Given the description of an element on the screen output the (x, y) to click on. 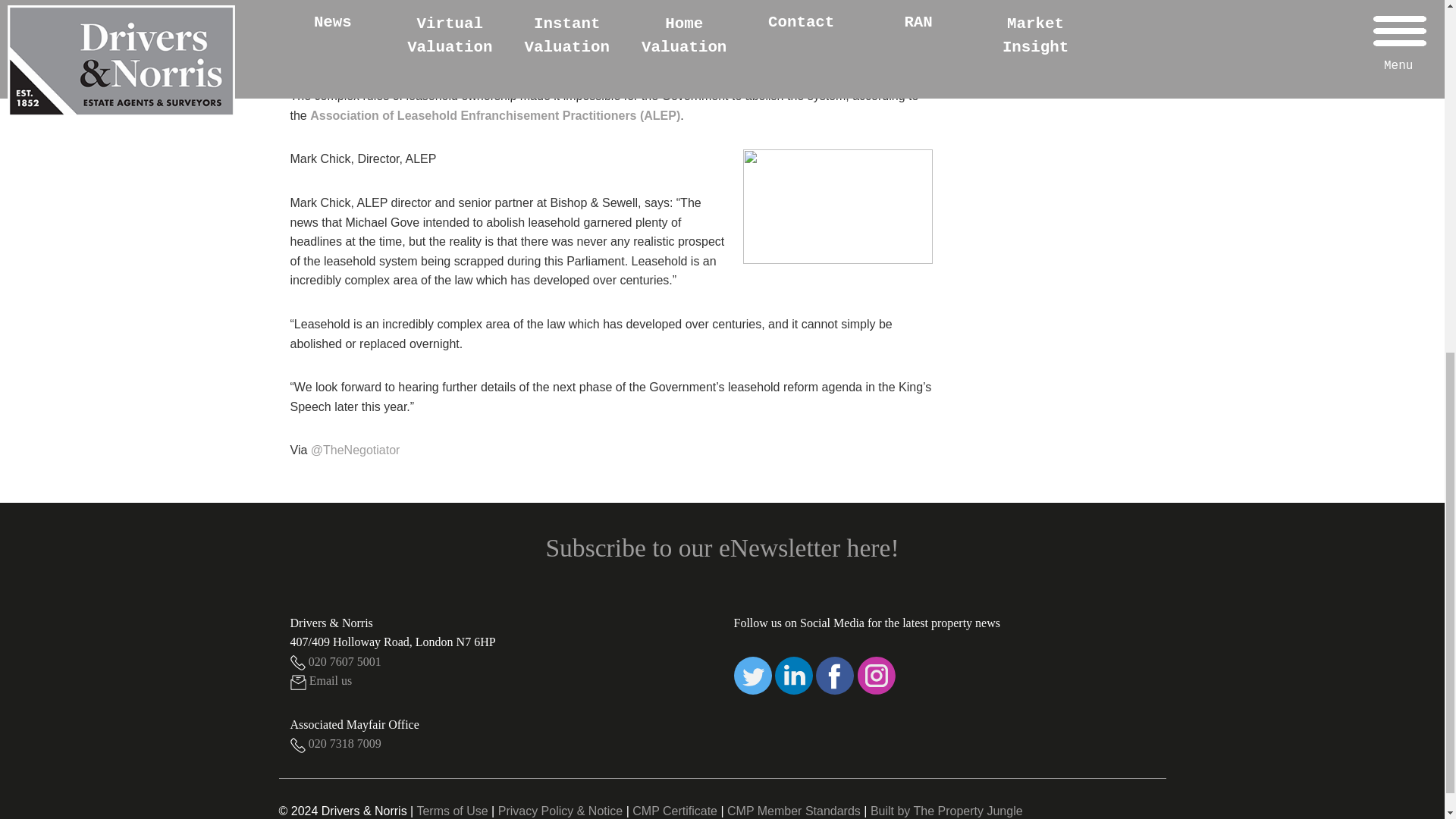
Email us (320, 680)
Subscribe to our eNewsletter here! (721, 547)
Built by The Property Jungle (946, 810)
Terms of Use (451, 810)
CMP Certificate (674, 810)
020 7318 7009 (334, 743)
020 7607 5001 (334, 661)
CMP Member Standards (793, 810)
